Given the description of an element on the screen output the (x, y) to click on. 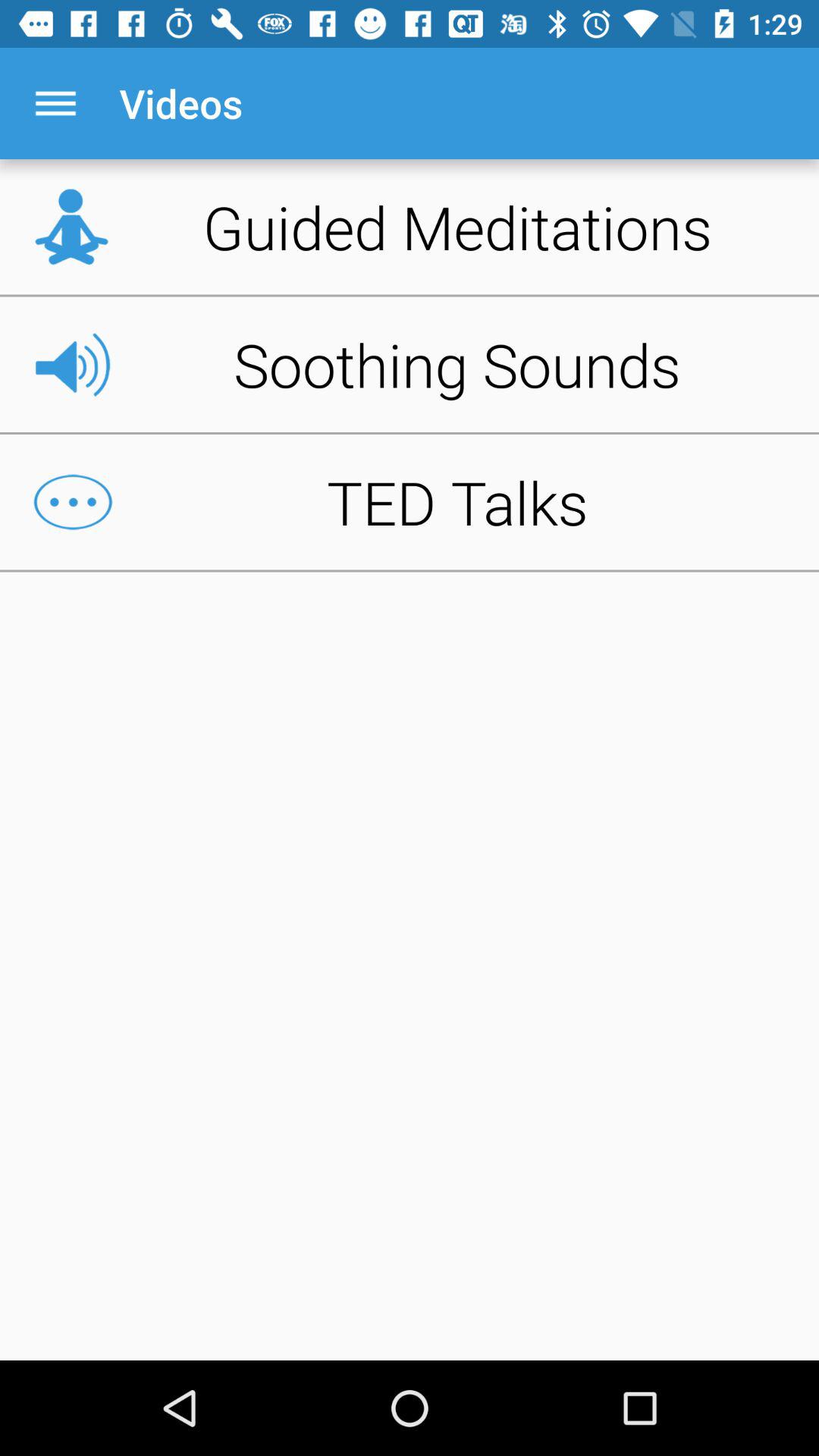
turn off app to the left of videos (55, 103)
